Given the description of an element on the screen output the (x, y) to click on. 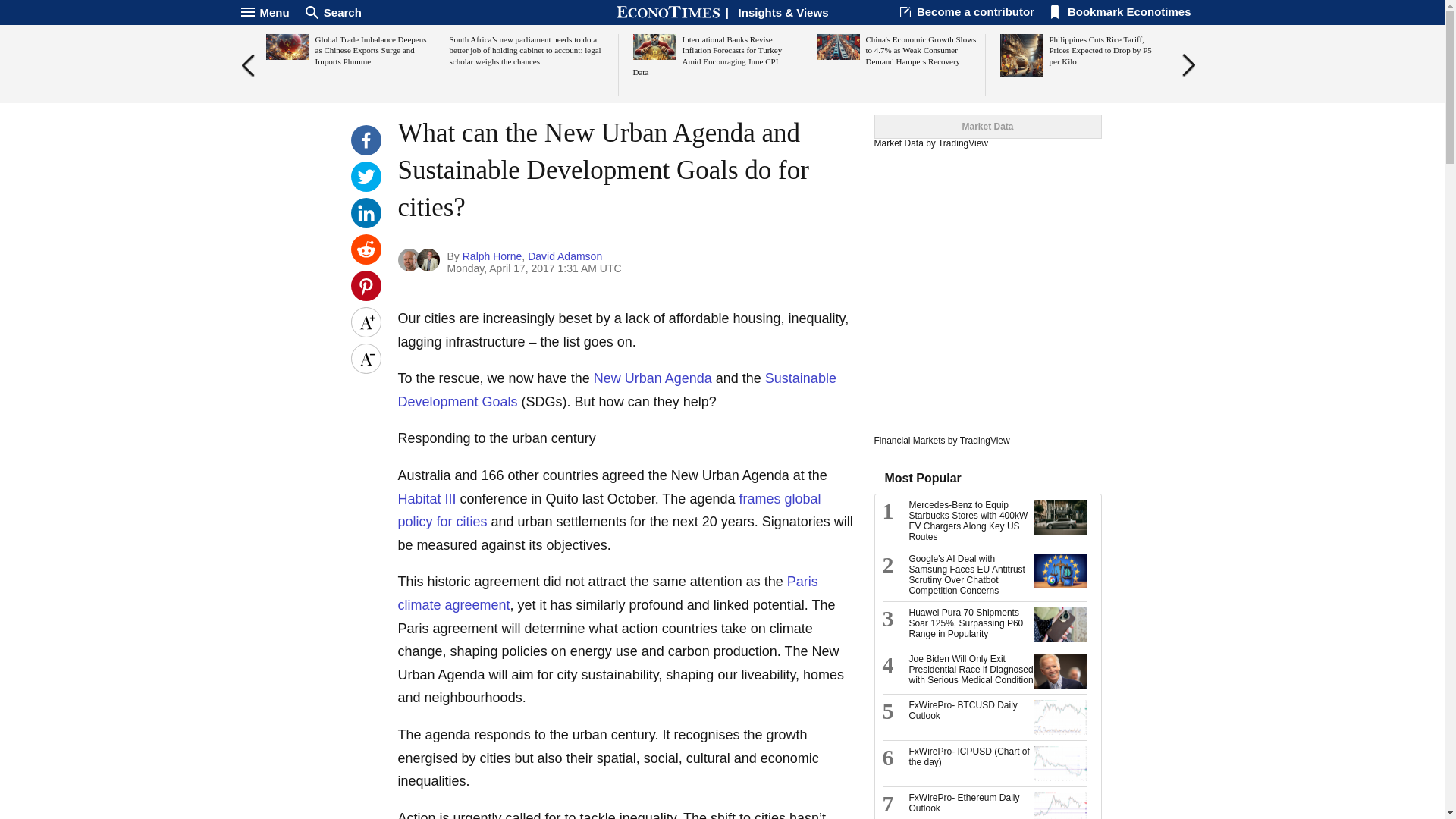
Share this on Twitter (365, 187)
Increase text size (365, 322)
Share on Pinterest (365, 297)
Share on reddit (365, 260)
Decrease text size (365, 358)
Become a contributor (975, 11)
Share this on LinkedIn (365, 224)
Share this on Facebook (365, 151)
